Given the description of an element on the screen output the (x, y) to click on. 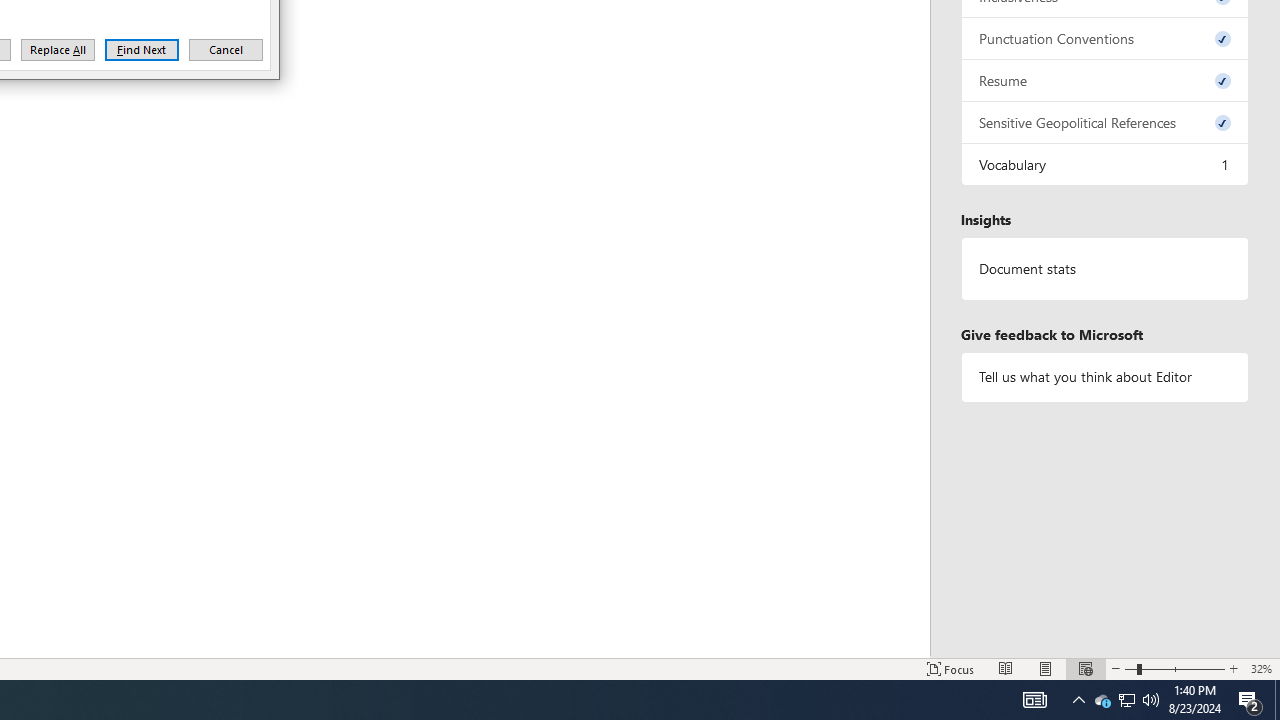
Q2790: 100% (1126, 699)
Action Center, 2 new notifications (1151, 699)
Vocabulary, 1 issue. Press space or enter to review items. (1250, 699)
AutomationID: 4105 (1105, 164)
Document statistics (1034, 699)
